Given the description of an element on the screen output the (x, y) to click on. 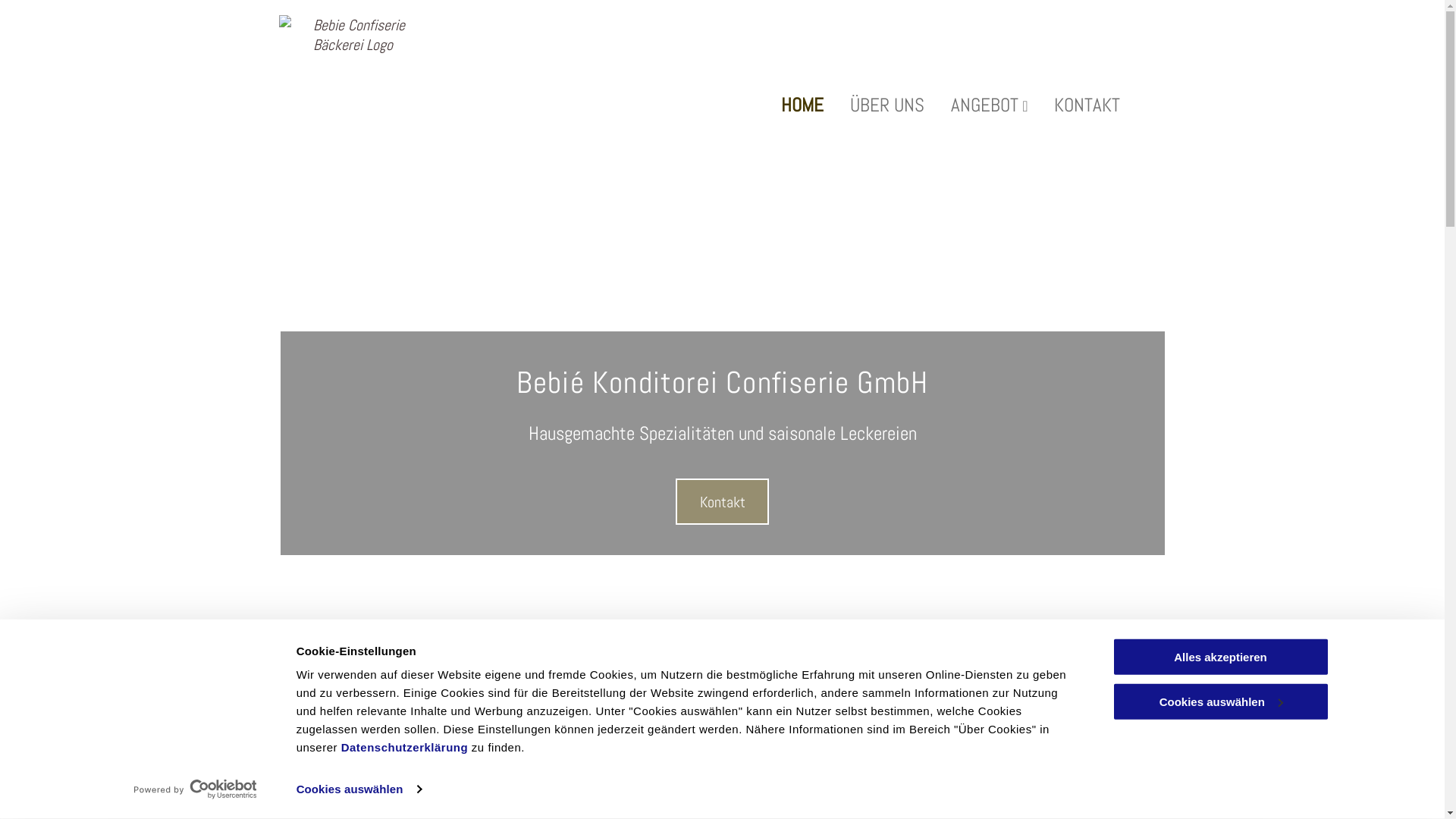
Kontakt Element type: text (721, 500)
HOME Element type: text (805, 104)
Alles akzeptieren Element type: text (1219, 656)
ANGEBOT Element type: text (992, 104)
KONTAKT Element type: text (1090, 104)
